Given the description of an element on the screen output the (x, y) to click on. 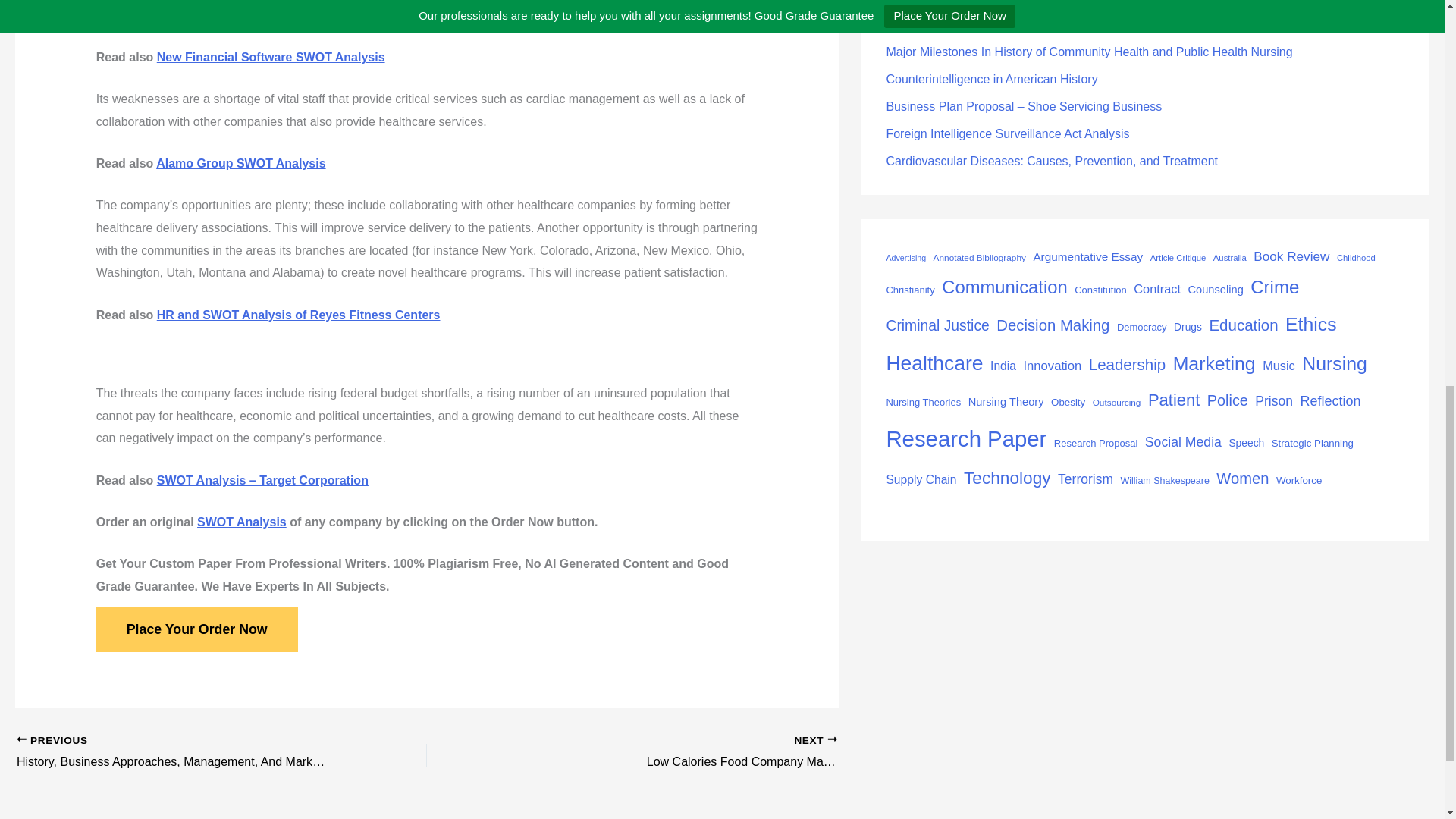
Place Your Order Now (197, 628)
New Financial Software SWOT Analysis (271, 56)
Communication (1004, 287)
Foreign Intelligence Surveillance Act Analysis (1007, 133)
Cardiovascular Diseases: Causes, Prevention, and Treatment (1051, 160)
Book Review (1291, 256)
Advertising (905, 258)
Annotated Bibliography (979, 258)
Constitution (1100, 290)
